Given the description of an element on the screen output the (x, y) to click on. 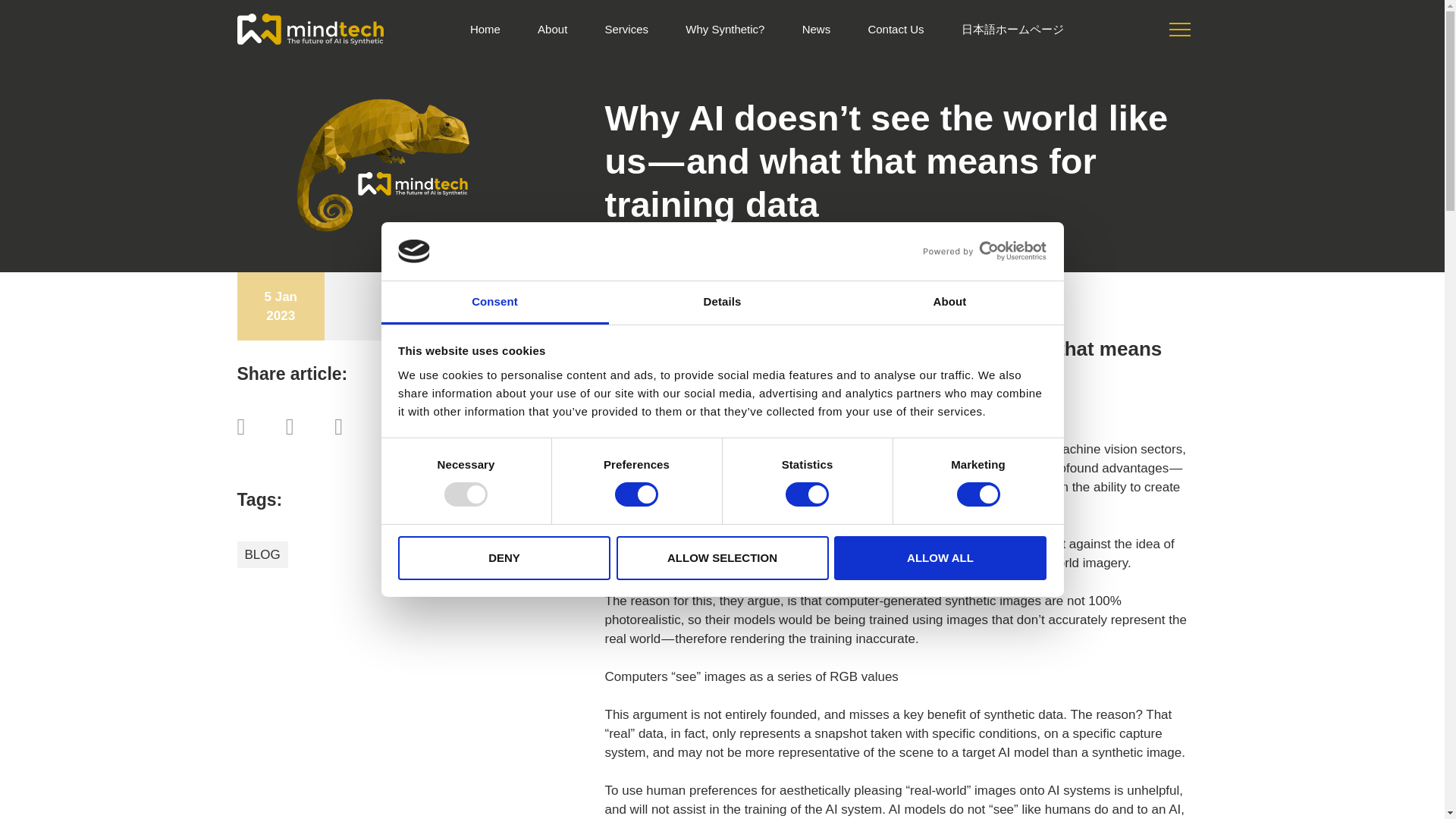
Share on Twitter (307, 426)
DENY (503, 557)
Details (721, 302)
Mindtech Global (308, 29)
ALLOW ALL (940, 557)
Share on Facebook (257, 426)
Share on LinkedIn (355, 426)
About (948, 302)
ALLOW SELECTION (721, 557)
Consent (494, 302)
